Given the description of an element on the screen output the (x, y) to click on. 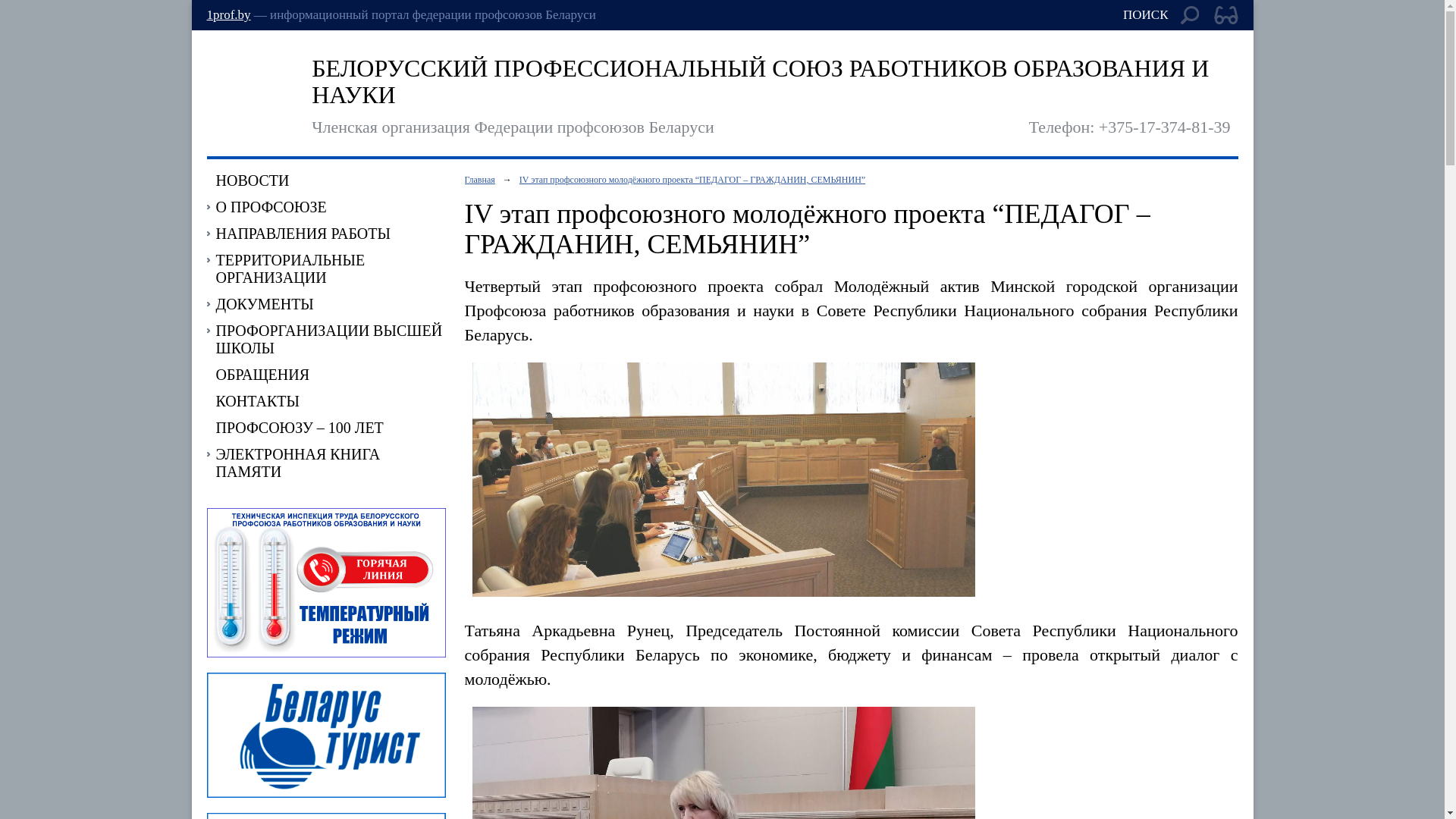
1prof.by Element type: text (228, 14)
